Given the description of an element on the screen output the (x, y) to click on. 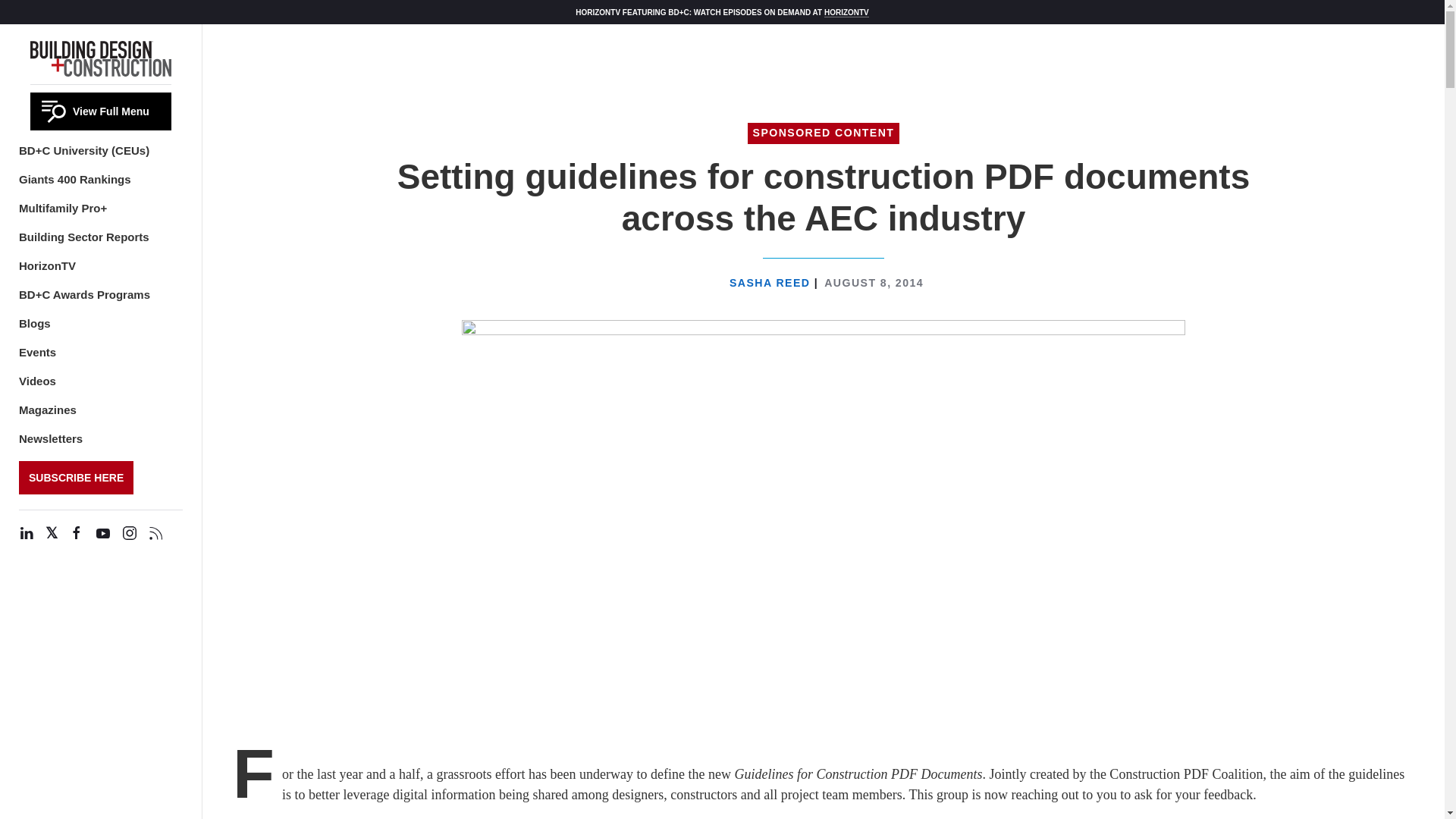
View Full Menu (100, 111)
Blogs (34, 323)
Building Sector Reports (83, 236)
HorizonTV (46, 265)
Giants 400 Rankings (74, 178)
SASHA REED (771, 282)
Newsletters (50, 438)
Home (100, 56)
Events (37, 351)
HORIZONTV (846, 11)
